Given the description of an element on the screen output the (x, y) to click on. 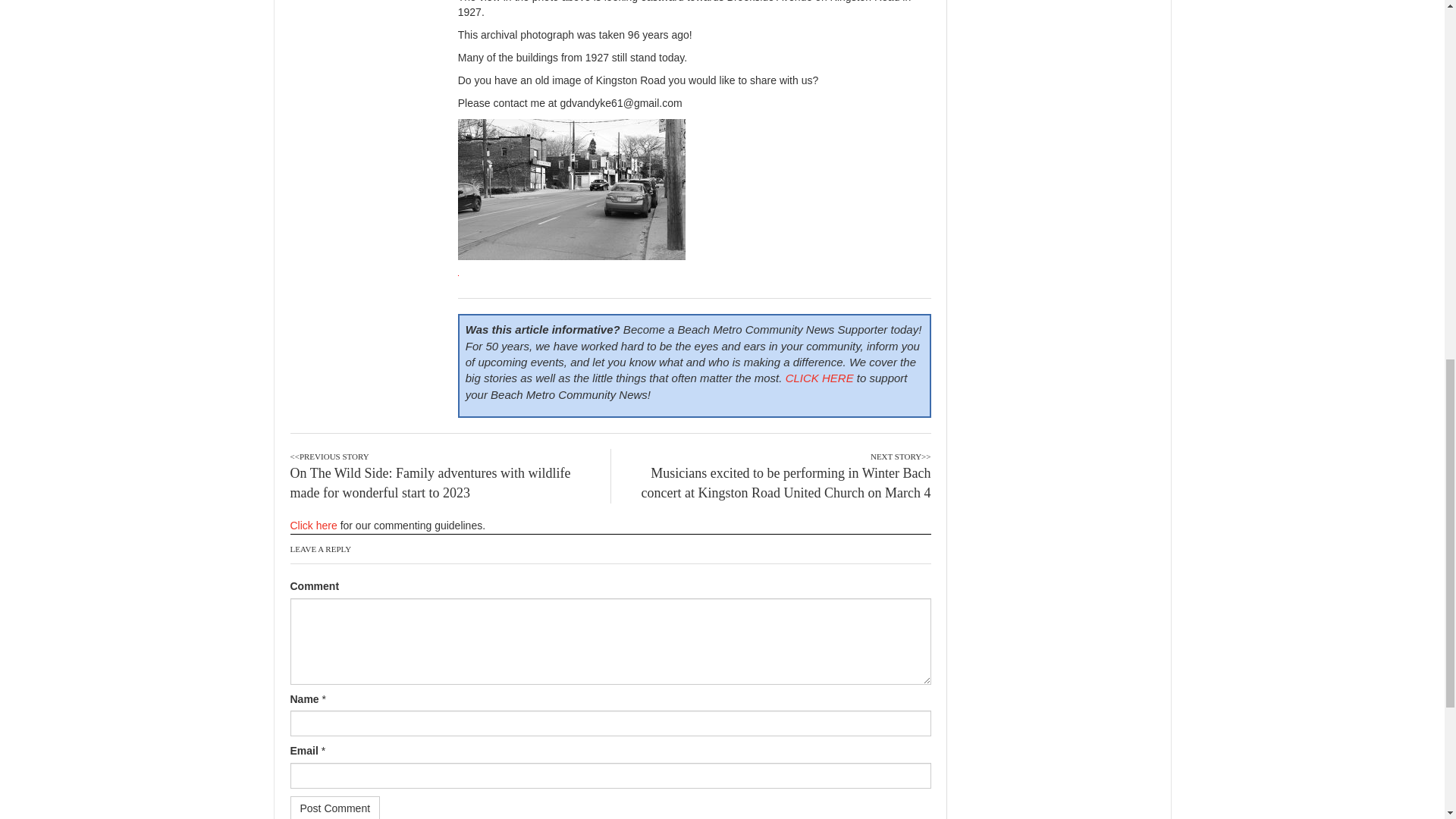
Post Comment (334, 807)
